Given the description of an element on the screen output the (x, y) to click on. 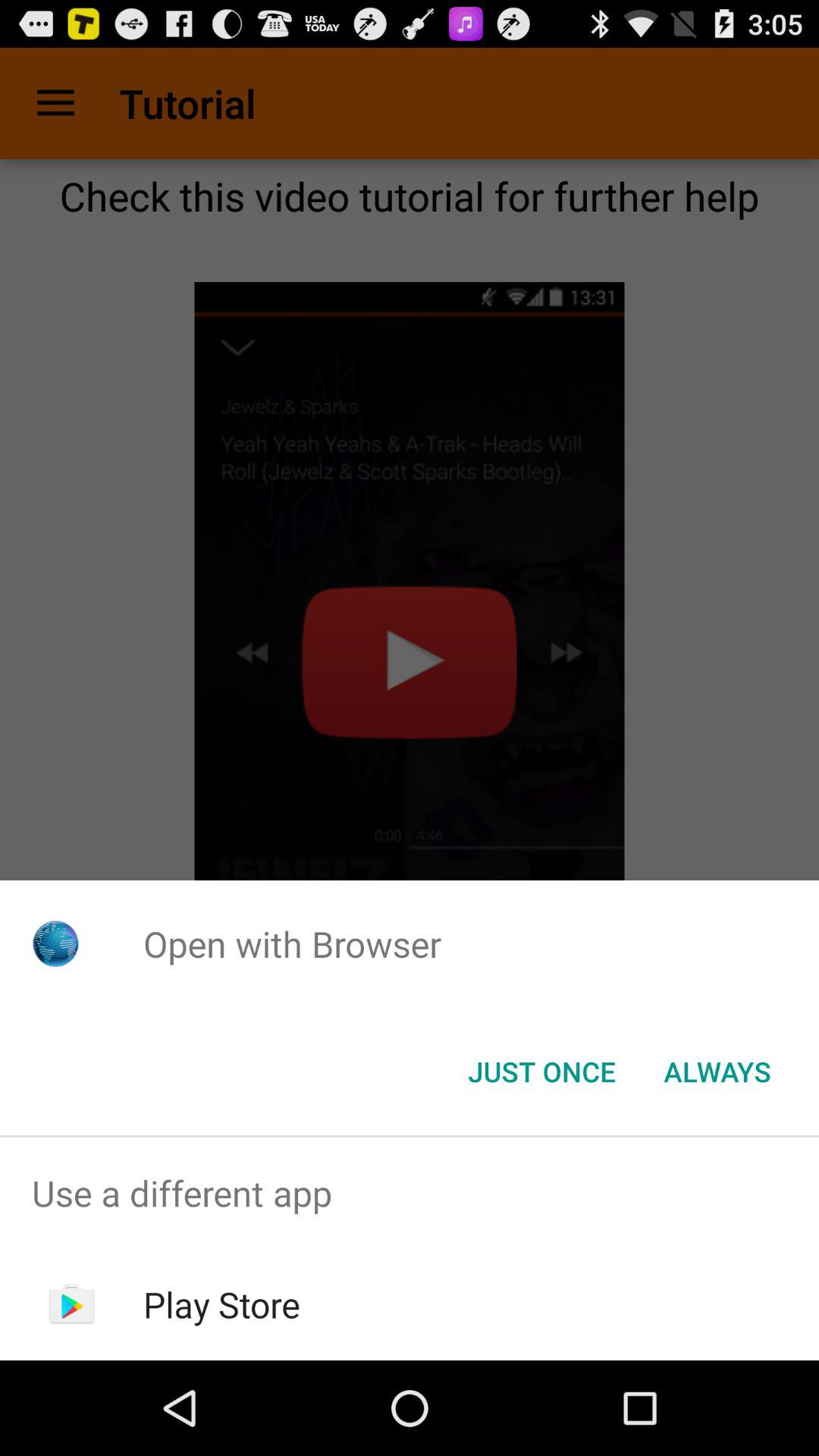
select icon below the open with browser item (541, 1071)
